Given the description of an element on the screen output the (x, y) to click on. 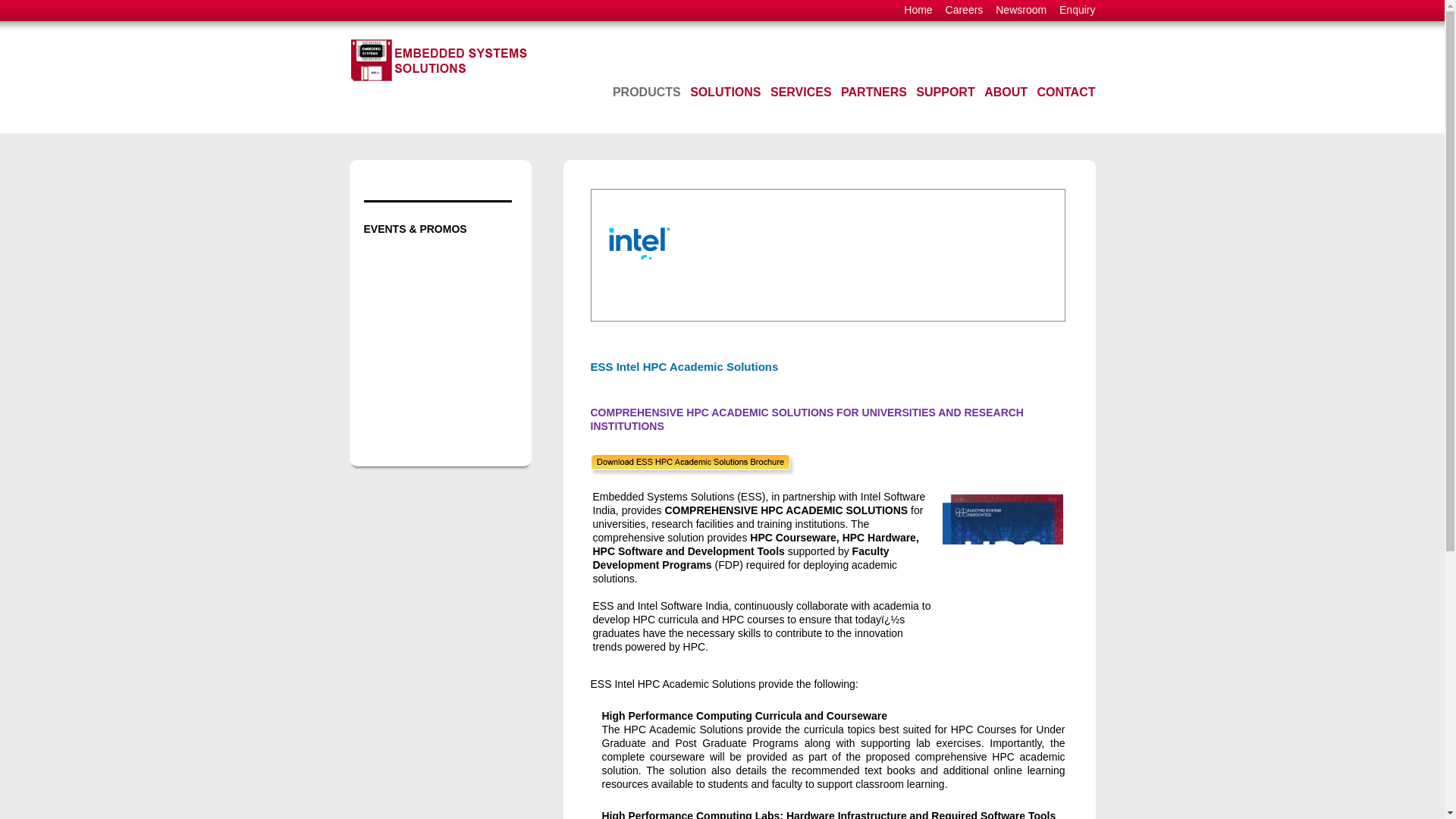
PRODUCTS (646, 92)
Careers (964, 9)
PARTNERS (874, 92)
Home (917, 9)
SERVICES (800, 92)
Enquiry (1076, 9)
ABOUT (1005, 92)
SOLUTIONS (725, 92)
SUPPORT (944, 92)
Newsroom (1020, 9)
